Given the description of an element on the screen output the (x, y) to click on. 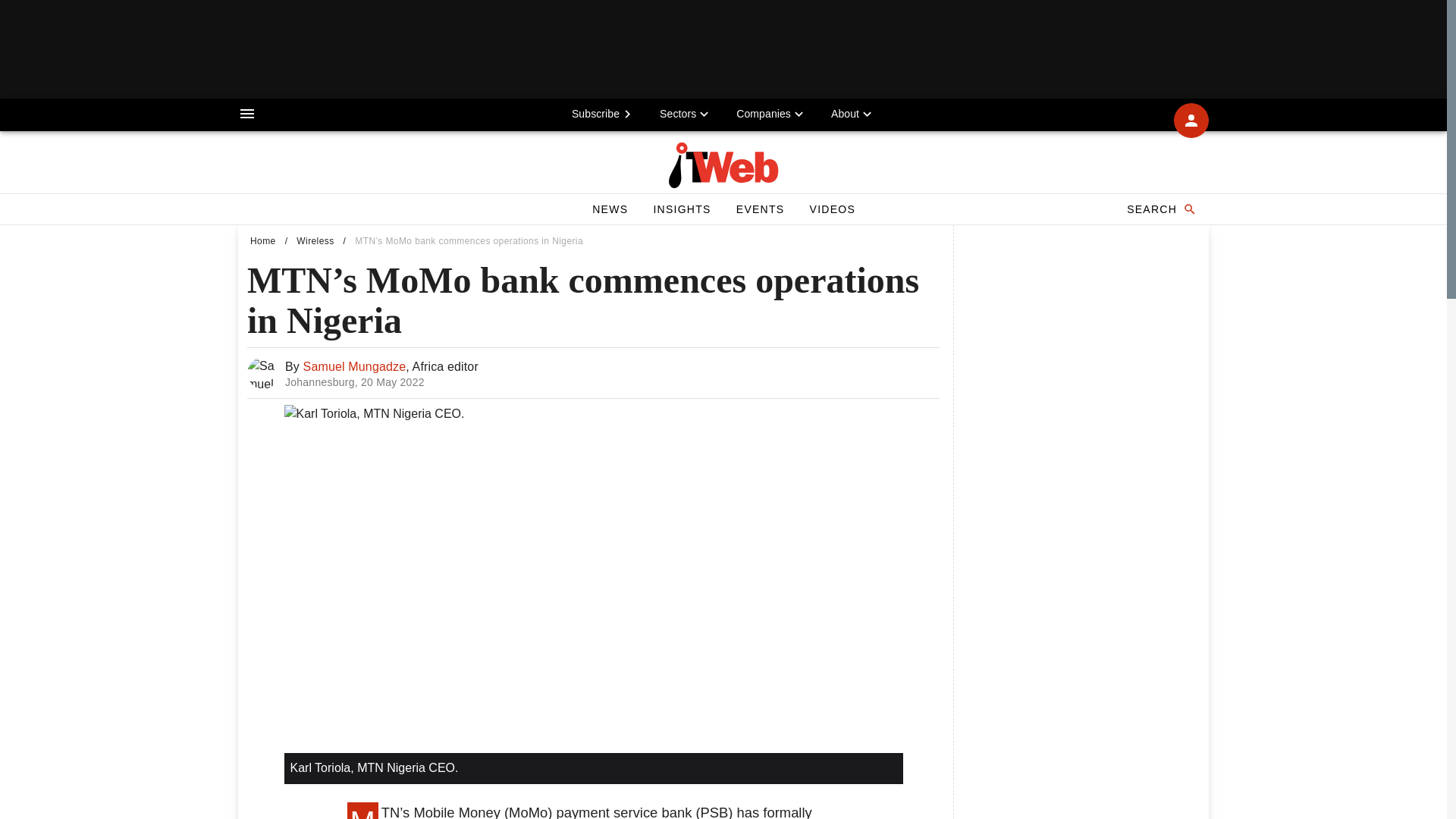
Subscribe (603, 113)
VIDEOS (831, 208)
Home (263, 241)
SEARCH (1160, 209)
EVENTS (759, 208)
Wireless (315, 241)
NEWS (609, 208)
INSIGHTS (593, 372)
